Given the description of an element on the screen output the (x, y) to click on. 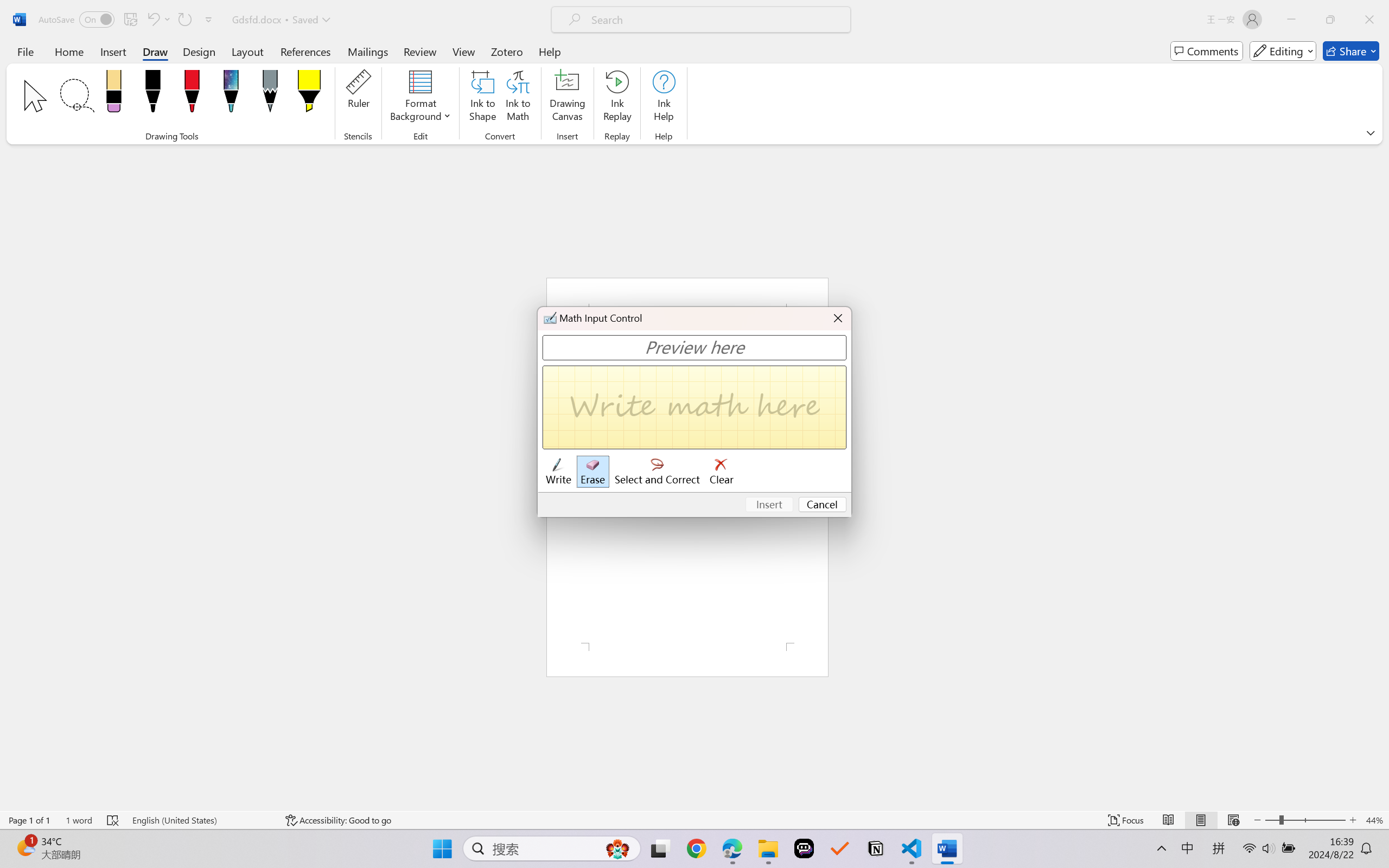
Clear (721, 471)
